Given the description of an element on the screen output the (x, y) to click on. 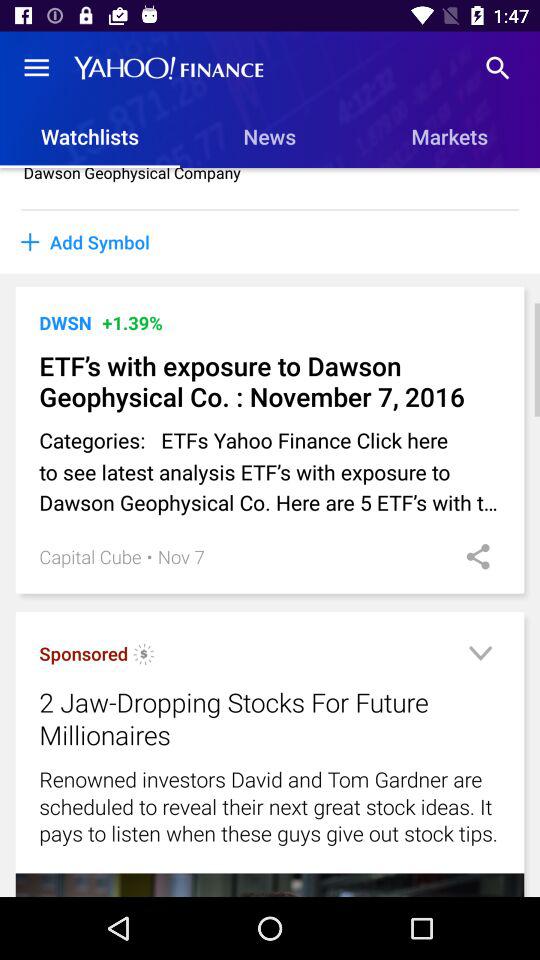
press +1.39% item (132, 322)
